Given the description of an element on the screen output the (x, y) to click on. 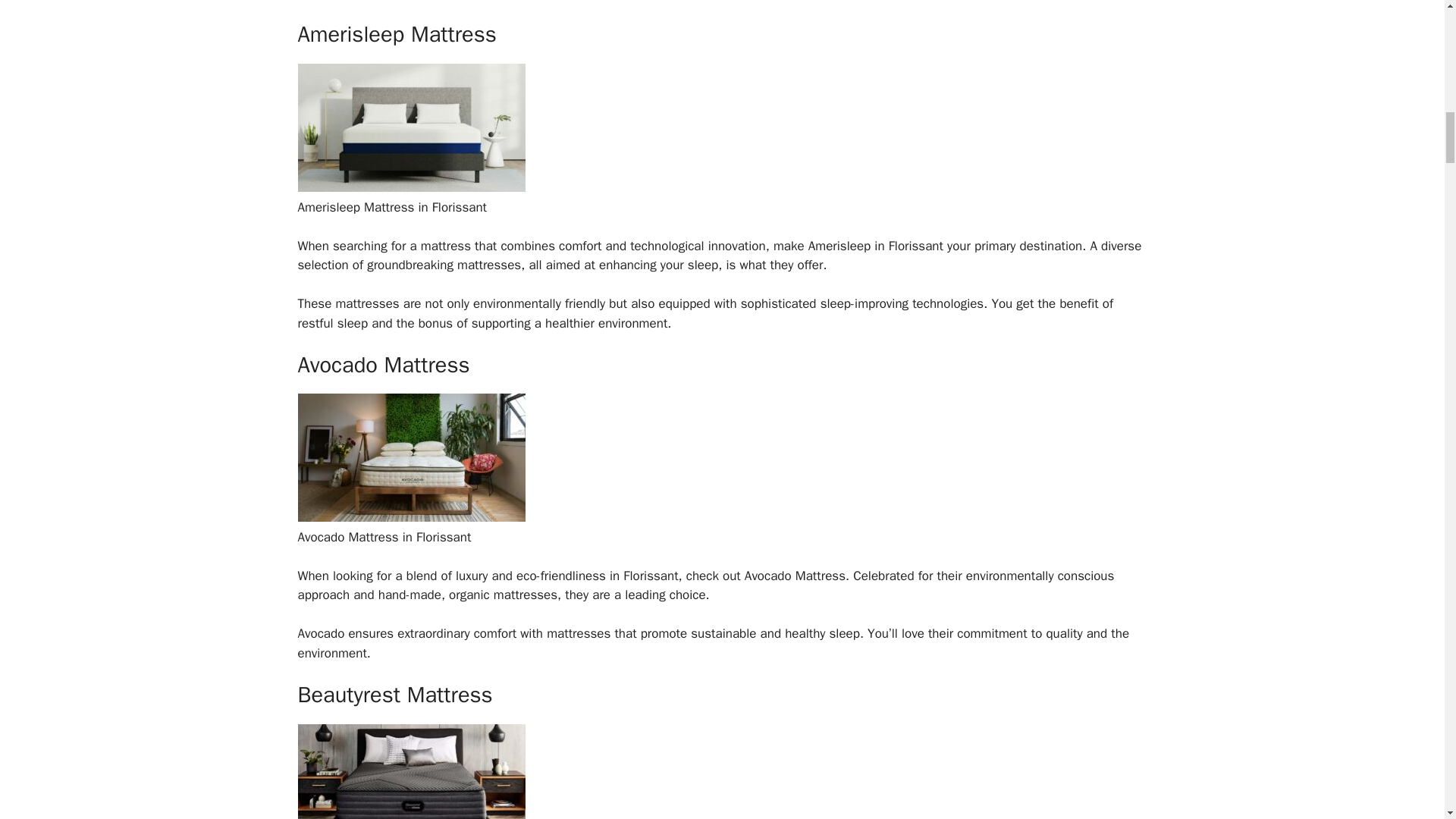
Amerisleep Mattress Florissant (410, 187)
Avocado Mattress Florissant (410, 517)
